Given the description of an element on the screen output the (x, y) to click on. 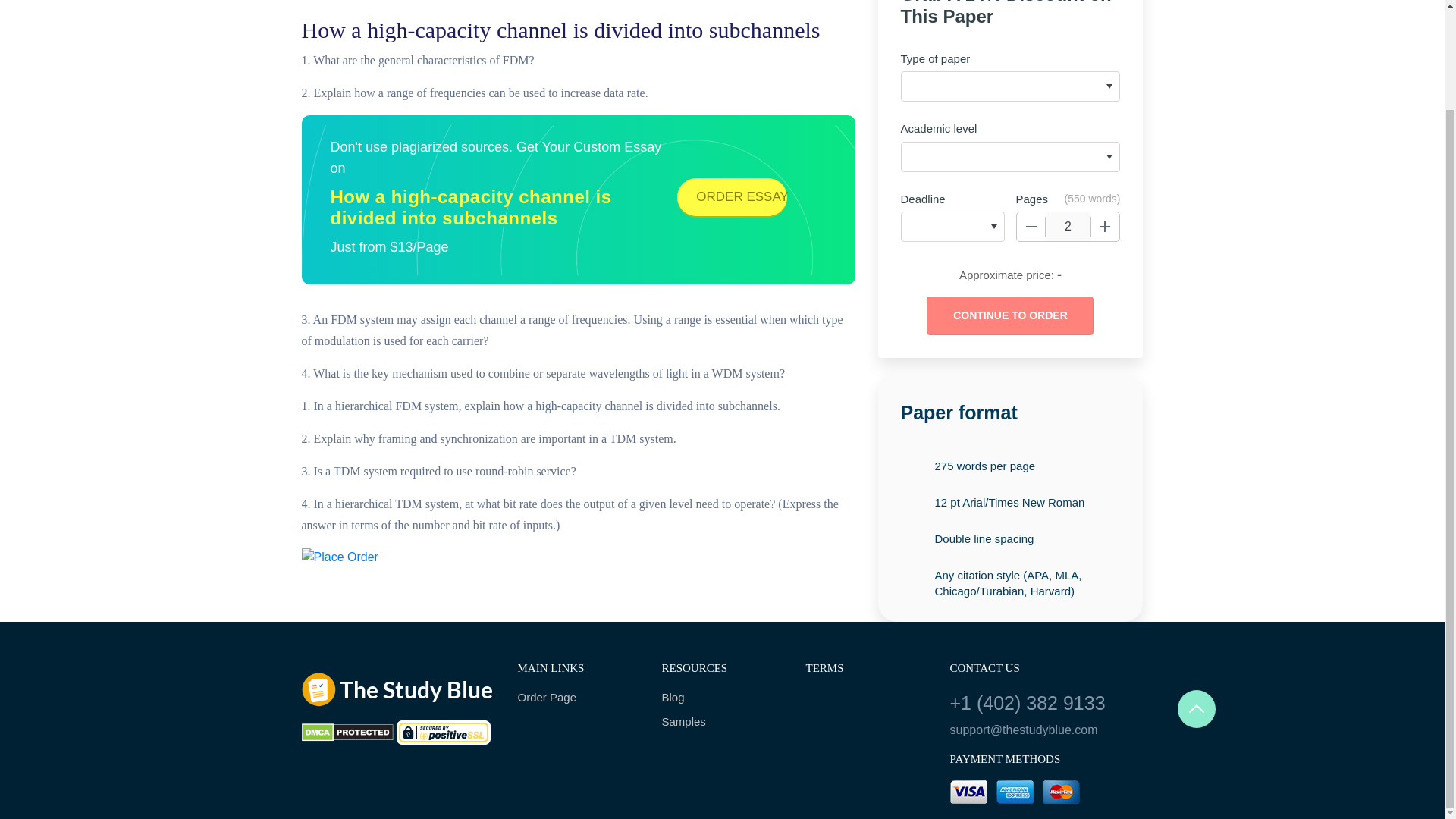
Order Page (577, 697)
2 (1067, 226)
Blog (722, 697)
DMCA.com Protection Status (347, 730)
ORDER ESSAY (732, 197)
Increase (1104, 226)
Continue to order (1009, 315)
Samples (722, 722)
Blog (722, 697)
Order Page (577, 697)
Samples (722, 722)
Decrease (1030, 226)
Place Order (339, 556)
Continue to order (1009, 315)
